Given the description of an element on the screen output the (x, y) to click on. 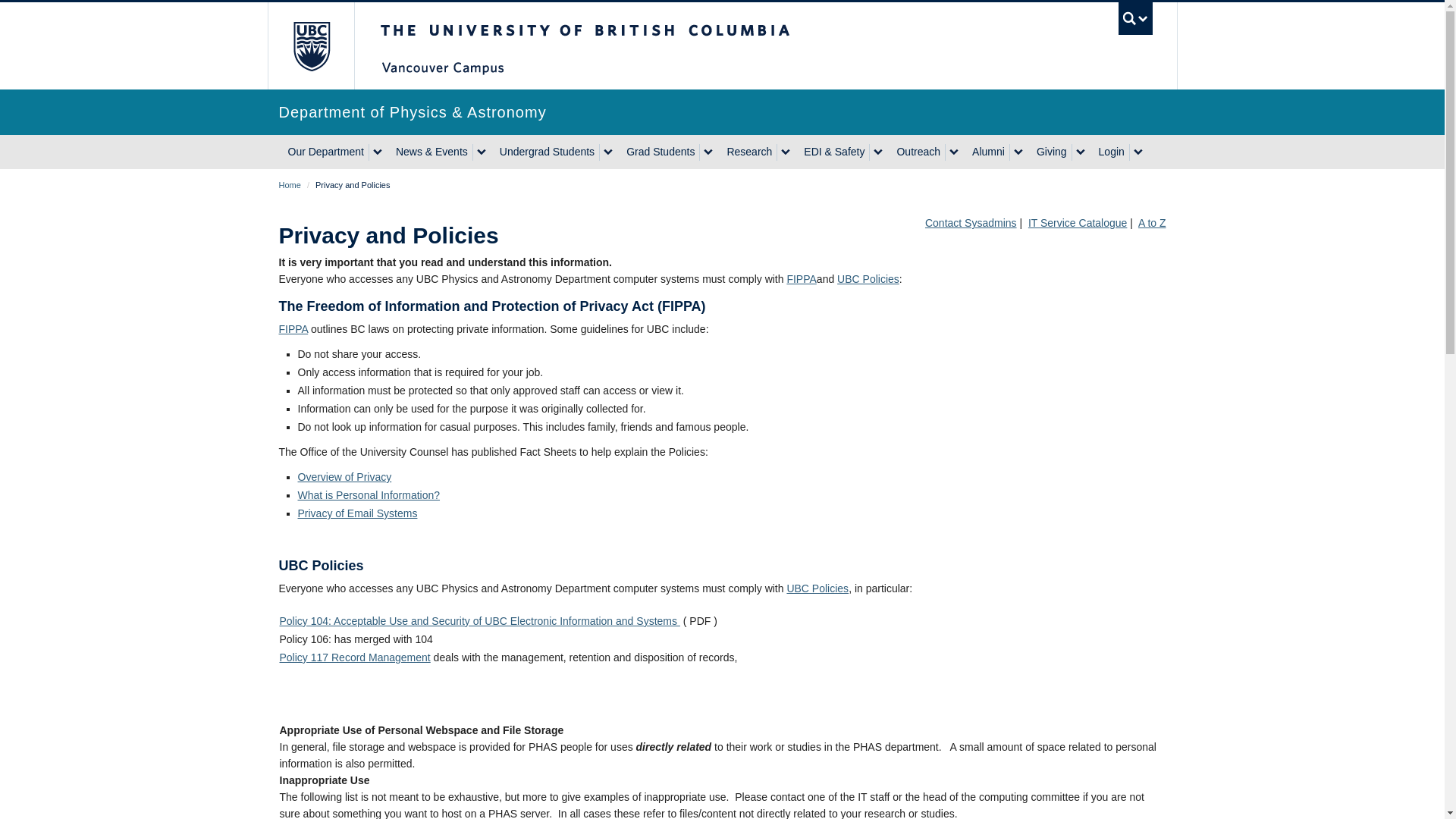
UBC Search (1135, 18)
The University of British Columbia (635, 45)
The University of British Columbia (309, 45)
Our Department (324, 151)
